Given the description of an element on the screen output the (x, y) to click on. 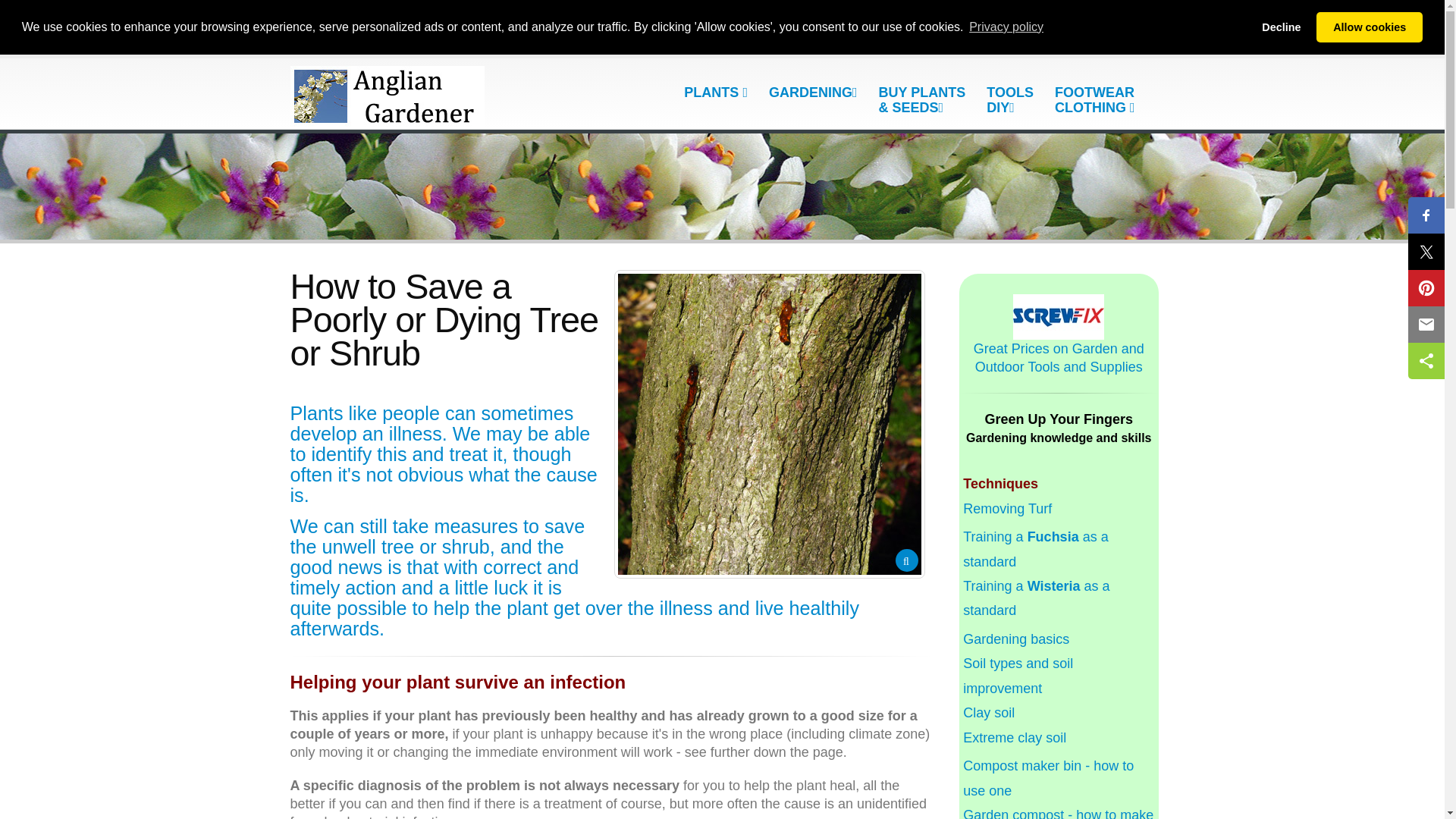
PLANTS (715, 91)
Decline (1281, 27)
Privacy policy (1005, 26)
Allow cookies (1369, 27)
